Given the description of an element on the screen output the (x, y) to click on. 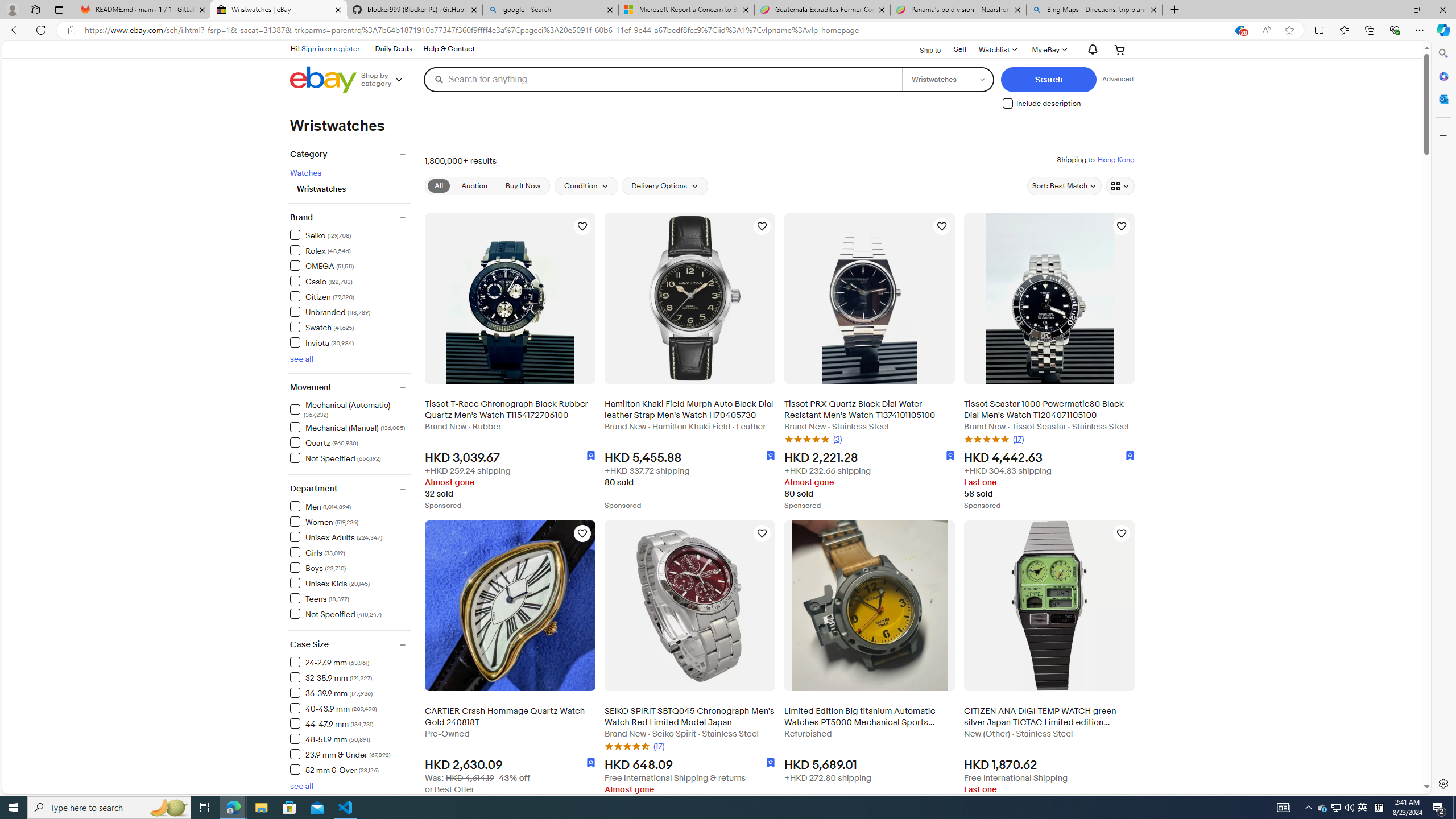
Not Specified(410,247) Items (349, 613)
Selected categoryWristwatches (353, 187)
Brand (349, 217)
Swatch(41,625) Items (349, 326)
Unisex Adults (224,347) Items (335, 536)
24-27.9 mm(63,961) Items (349, 661)
OMEGA (51,511) Items (321, 265)
Women(519,226) Items (349, 521)
Citizen(79,320) Items (349, 295)
48-51.9 mm(50,891) Items (349, 738)
